Given the description of an element on the screen output the (x, y) to click on. 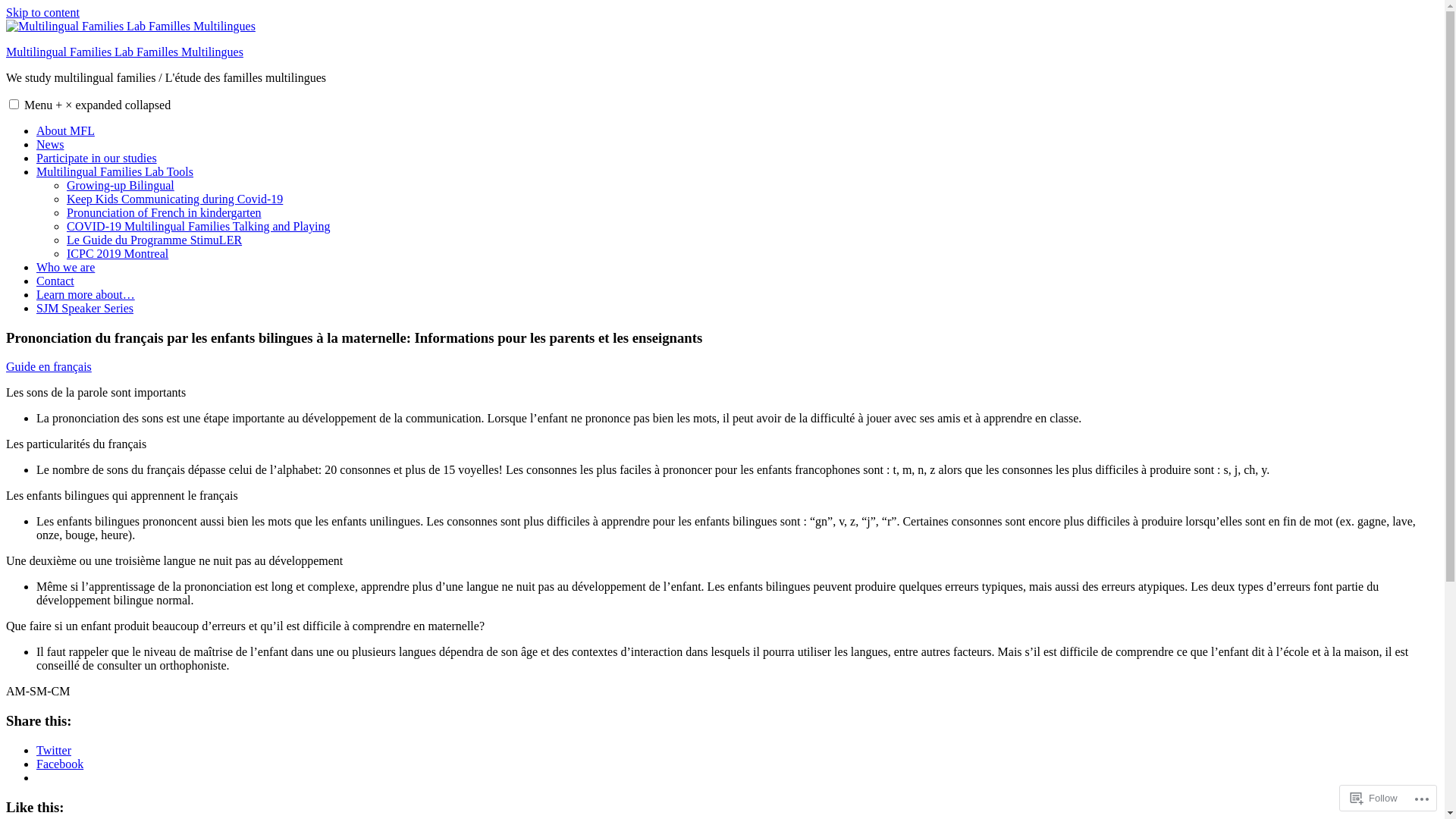
Contact Element type: text (55, 280)
Twitter Element type: text (53, 749)
Le Guide du Programme StimuLER Element type: text (153, 239)
About MFL Element type: text (65, 130)
Growing-up Bilingual Element type: text (120, 184)
Pronunciation of French in kindergarten Element type: text (163, 212)
Facebook Element type: text (59, 763)
COVID-19 Multilingual Families Talking and Playing Element type: text (197, 225)
ICPC 2019 Montreal Element type: text (117, 253)
SJM Speaker Series Element type: text (84, 307)
Keep Kids Communicating during Covid-19 Element type: text (174, 198)
Who we are Element type: text (65, 266)
Multilingual Families Lab Familles Multilingues Element type: text (124, 51)
Participate in our studies Element type: text (96, 157)
Multilingual Families Lab Tools Element type: text (114, 171)
Skip to content Element type: text (42, 12)
News Element type: text (49, 144)
Follow Element type: text (1373, 797)
